Given the description of an element on the screen output the (x, y) to click on. 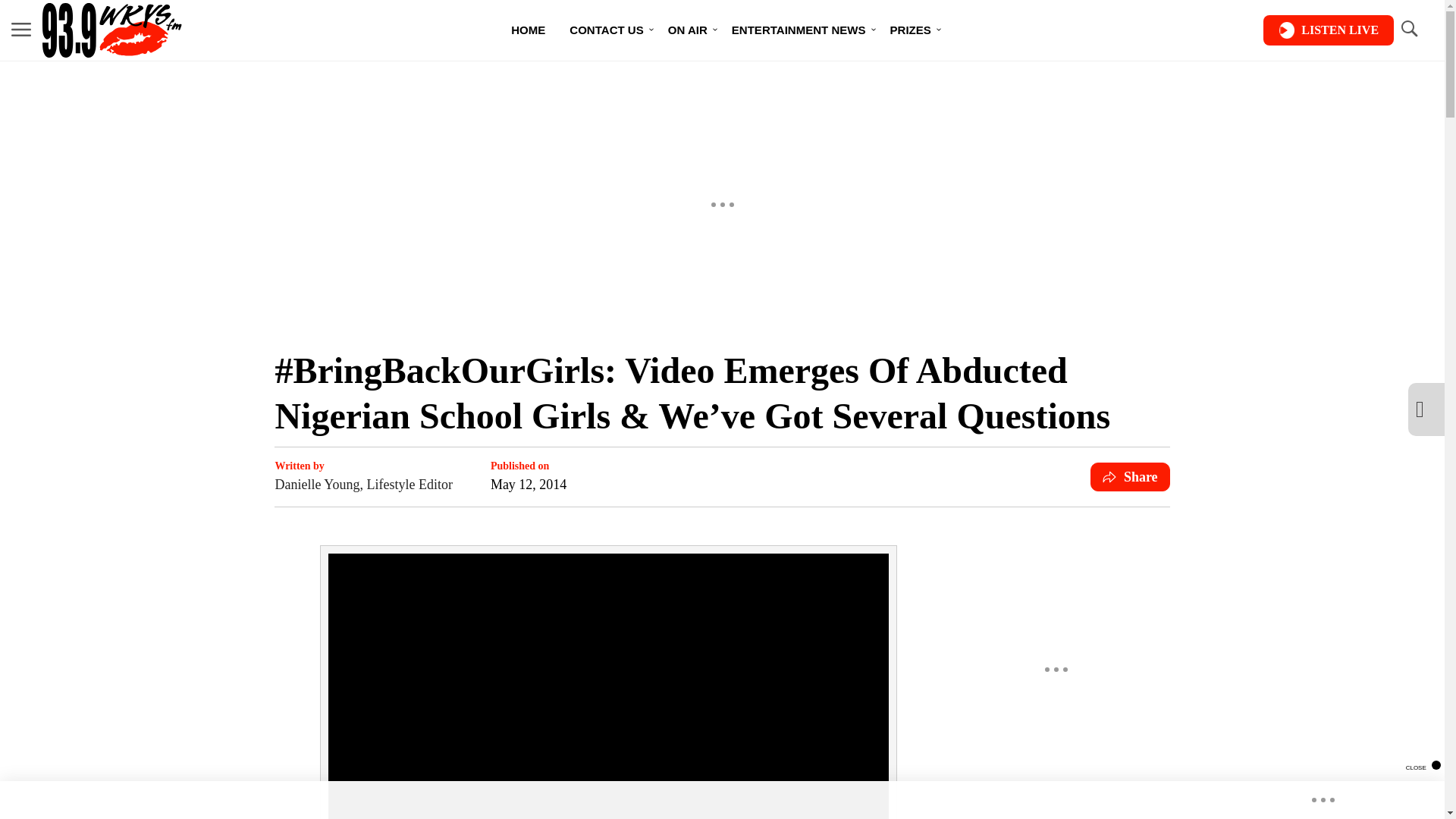
HOME (528, 30)
CONTACT US (606, 30)
ON AIR (687, 30)
MENU (20, 30)
PRIZES (910, 30)
TOGGLE SEARCH (1408, 30)
MENU (20, 29)
LISTEN LIVE (1328, 30)
TOGGLE SEARCH (1408, 28)
Share (1130, 476)
Danielle Young, Lifestyle Editor (363, 484)
ENTERTAINMENT NEWS (798, 30)
